Given the description of an element on the screen output the (x, y) to click on. 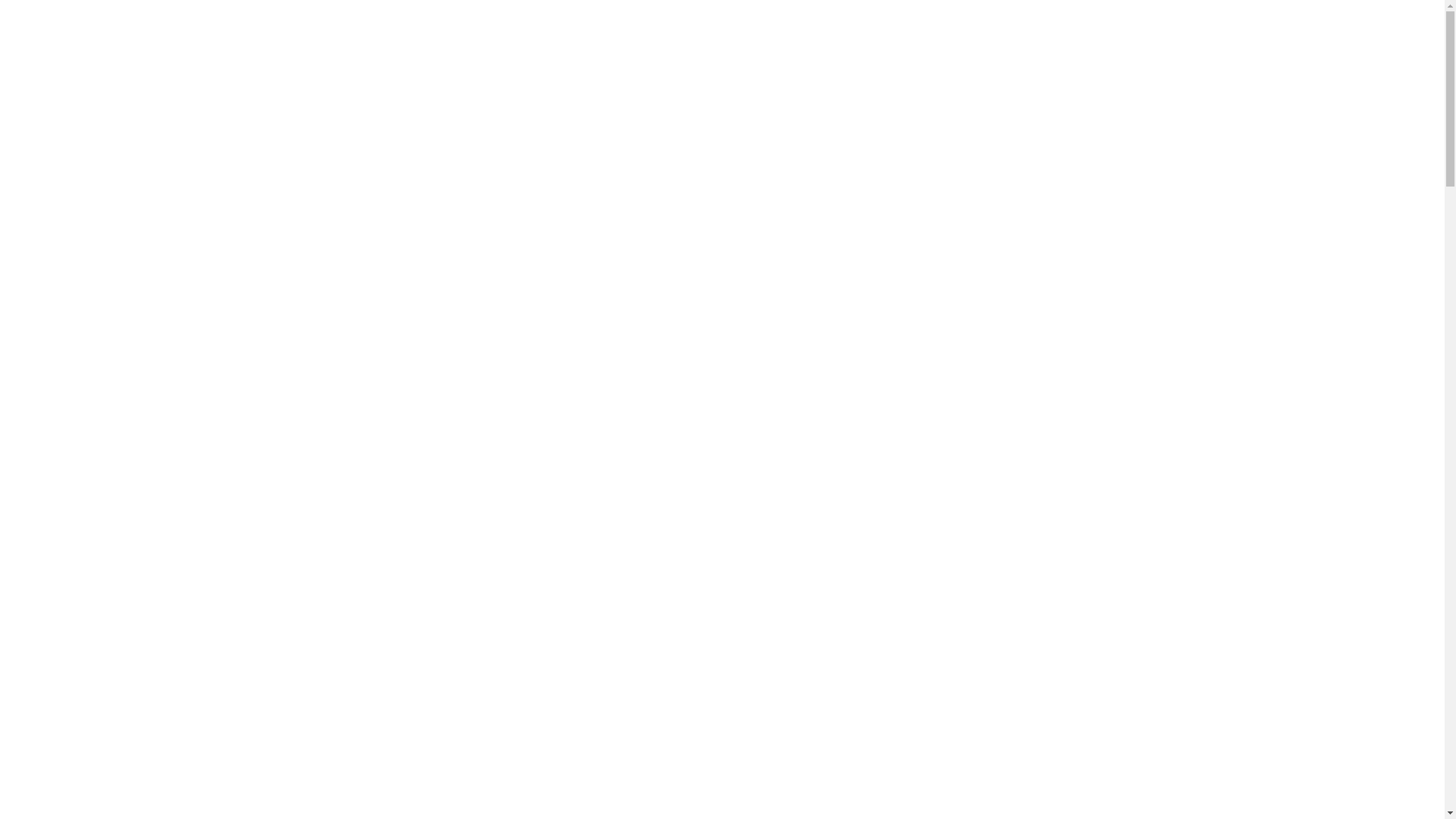
Careers Element type: text (1281, 77)
Contact Us Element type: text (1356, 77)
Your Team Element type: text (1146, 77)
READ MORE Element type: text (100, 474)
Our Story Element type: text (958, 77)
Our Expertise Element type: text (1050, 77)
Insights Element type: text (1217, 77)
